Given the description of an element on the screen output the (x, y) to click on. 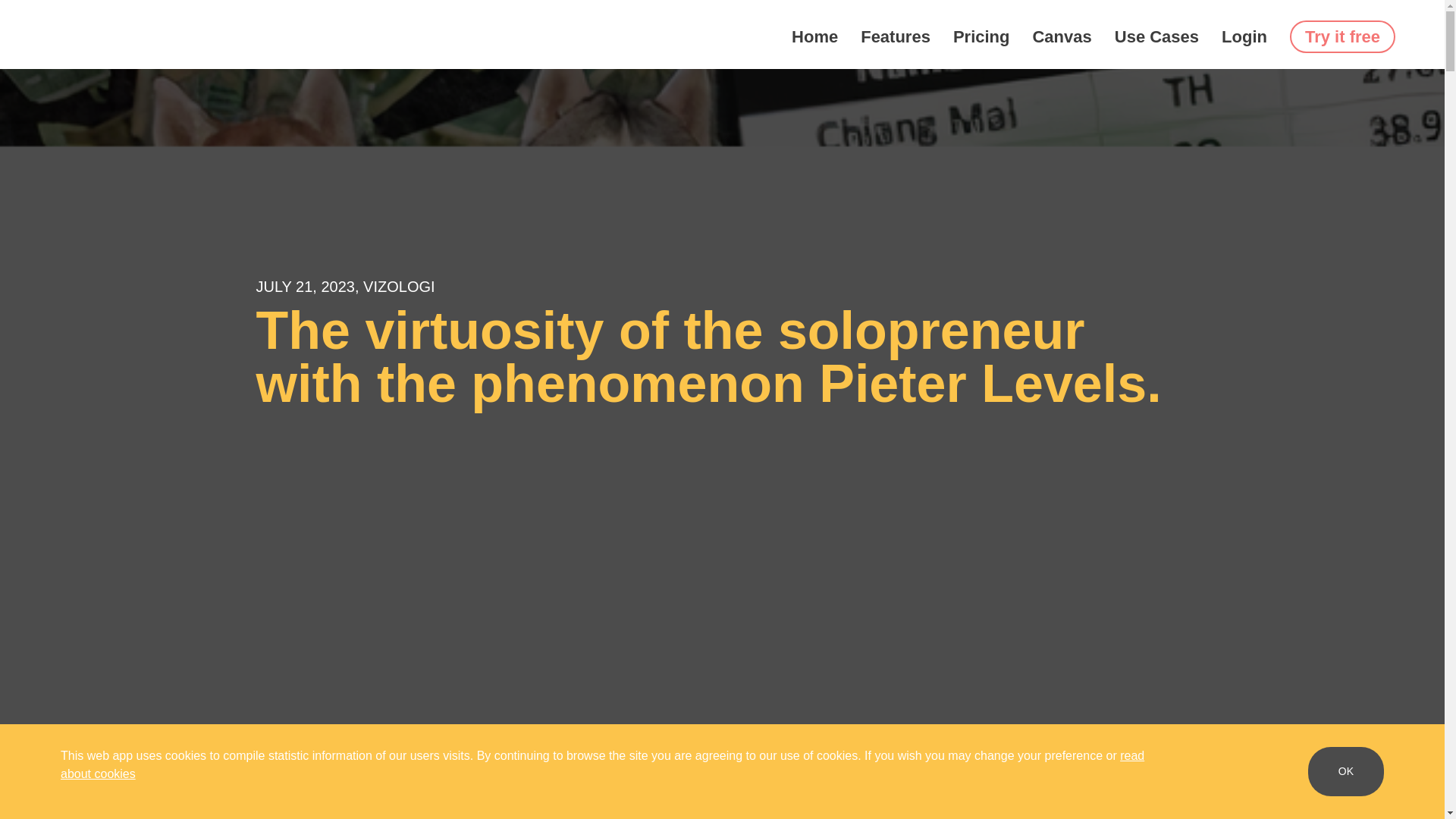
Features (895, 36)
read about cookies (602, 764)
Generative AI (261, 772)
Pricing (981, 36)
OK (1345, 771)
Entrepreneur (72, 772)
Pieter Levels (344, 772)
Try it free (1342, 36)
Canvas (1061, 36)
Home (815, 36)
Use Cases (1156, 36)
Solopreneur (424, 772)
Login (1243, 36)
Entrepreneurship (165, 772)
